Given the description of an element on the screen output the (x, y) to click on. 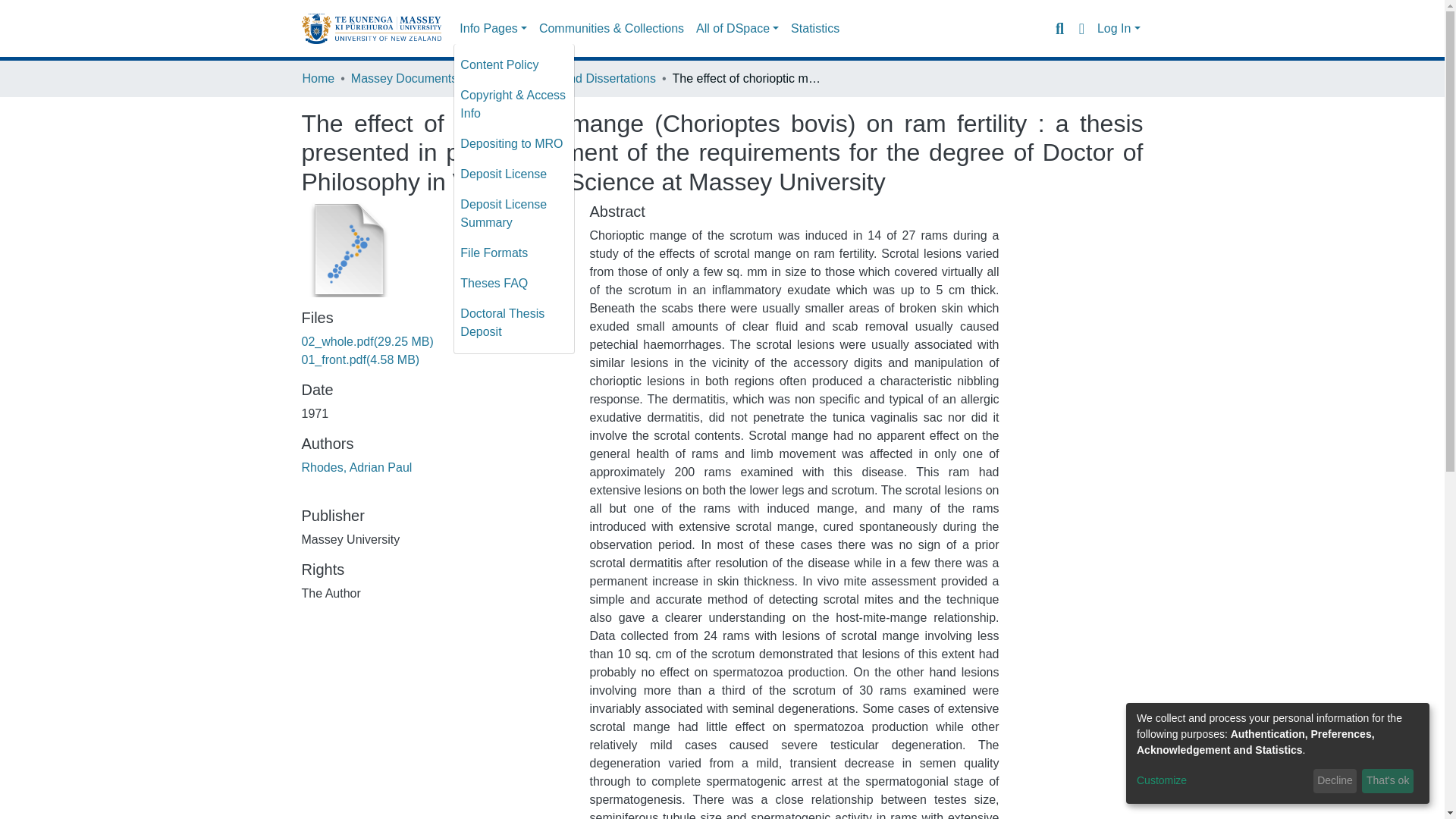
Content Policy (513, 64)
Home (317, 78)
Doctoral Thesis Deposit (513, 322)
Deposit License (513, 173)
File Formats (513, 253)
Search (1058, 28)
Theses and Dissertations (587, 78)
Deposit License Summary (513, 213)
Log In (1118, 28)
Language switch (1081, 28)
Rhodes, Adrian Paul (356, 467)
Statistics (814, 28)
Theses FAQ (513, 283)
Depositing to MRO (513, 143)
Massey Documents by Type (426, 78)
